Given the description of an element on the screen output the (x, y) to click on. 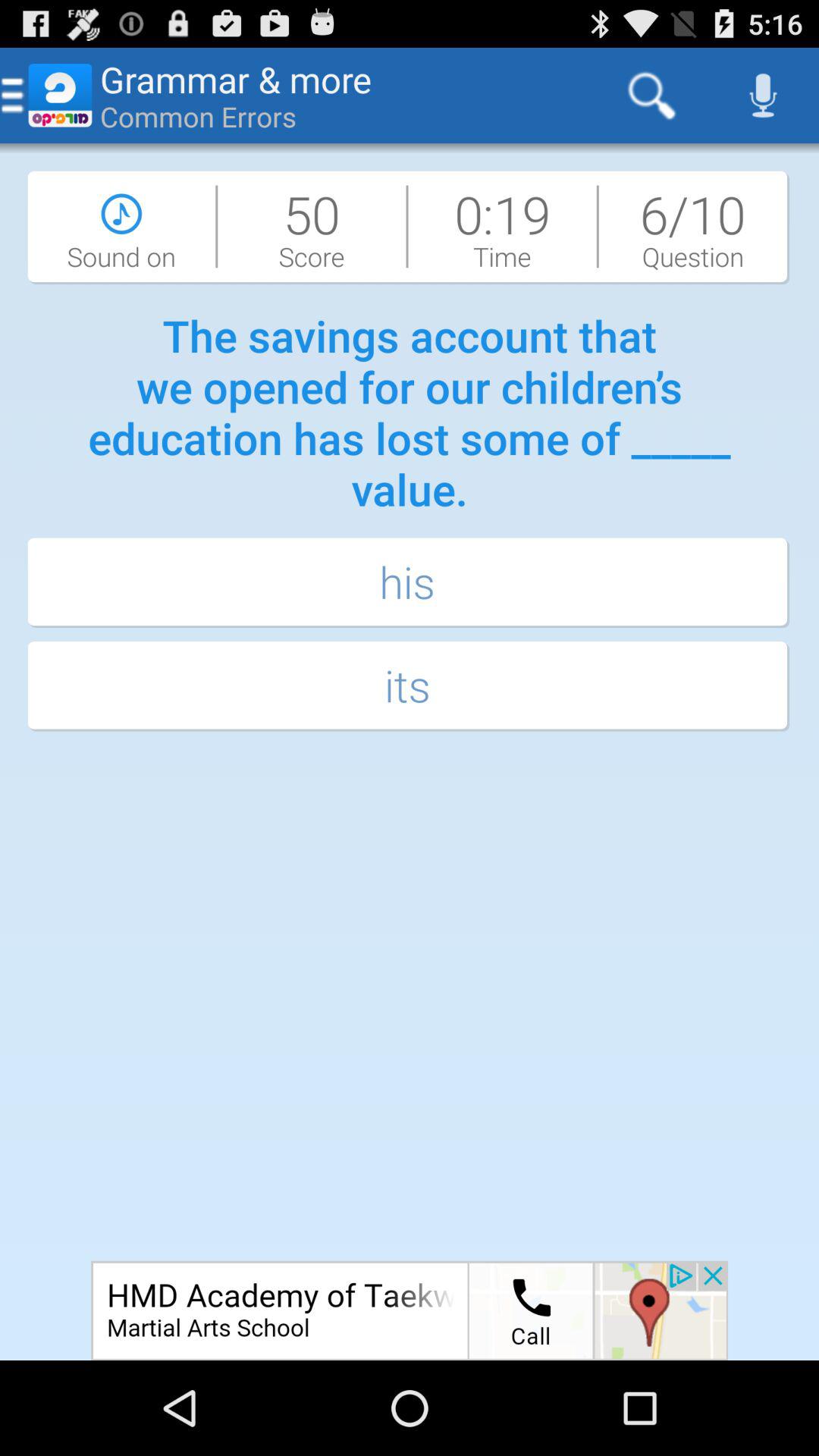
navigate to advertiser page (409, 1310)
